Given the description of an element on the screen output the (x, y) to click on. 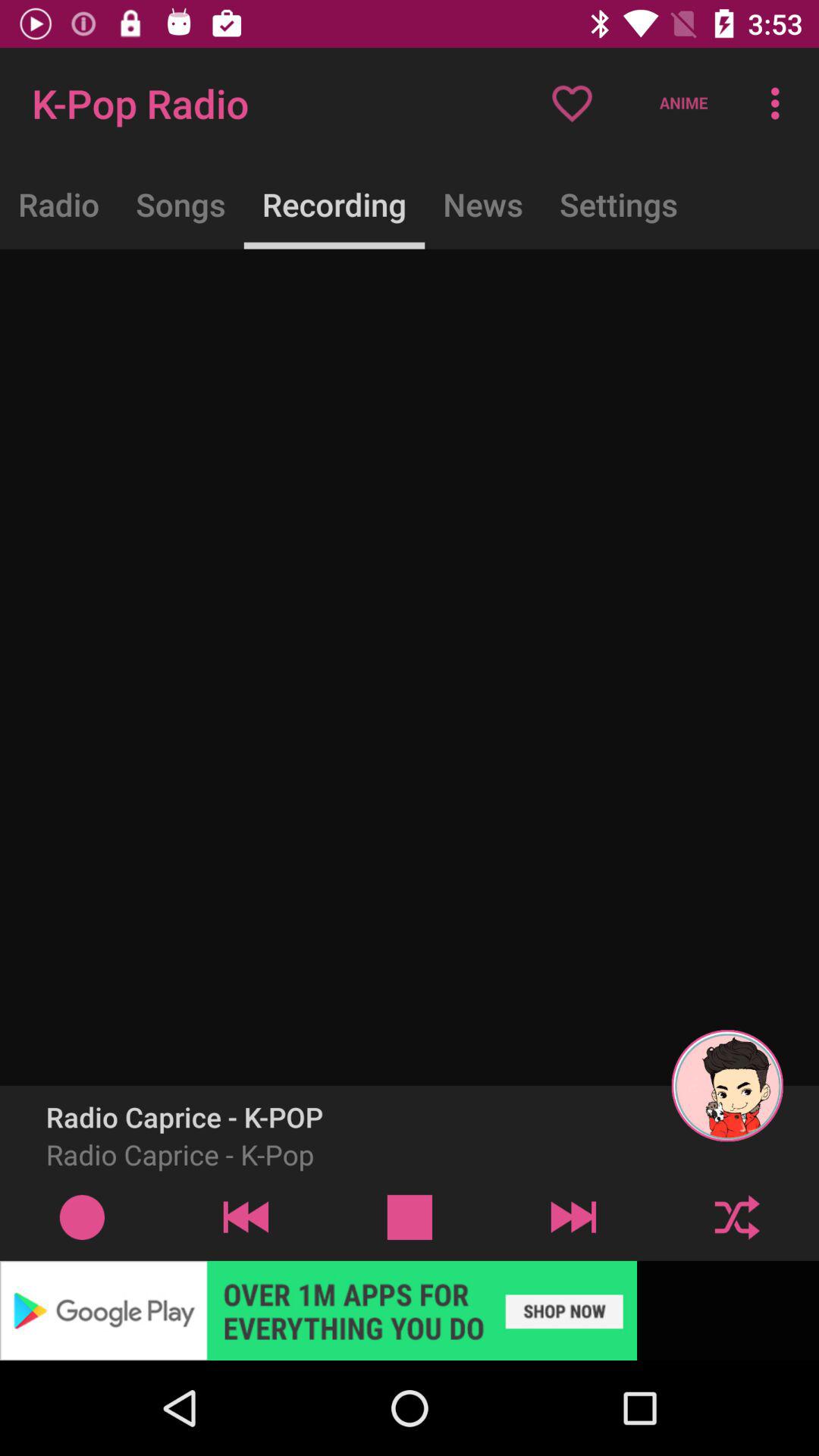
next play (573, 1216)
